Given the description of an element on the screen output the (x, y) to click on. 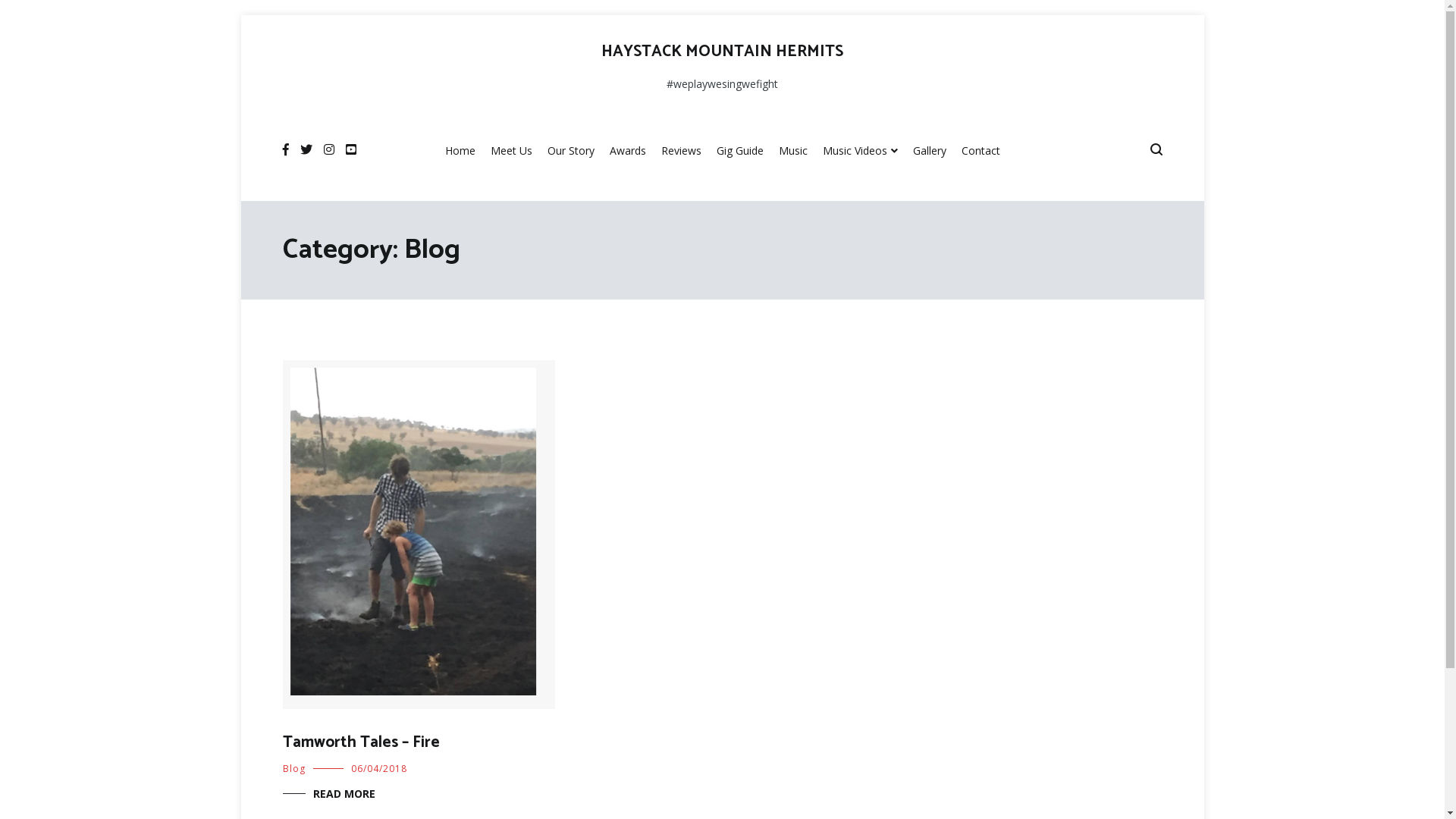
Skip to content Element type: text (239, 14)
Gig Guide Element type: text (738, 150)
Home Element type: text (459, 150)
READ MORE Element type: text (328, 793)
Music Element type: text (792, 150)
Blog Element type: text (293, 768)
Contact Element type: text (980, 150)
Reviews Element type: text (681, 150)
HAYSTACK MOUNTAIN HERMITS Element type: text (722, 51)
Meet Us Element type: text (510, 150)
06/04/2018 Element type: text (378, 768)
Awards Element type: text (627, 150)
Gallery Element type: text (929, 150)
Music Videos Element type: text (859, 150)
Our Story Element type: text (570, 150)
Search Element type: text (43, 16)
